Given the description of an element on the screen output the (x, y) to click on. 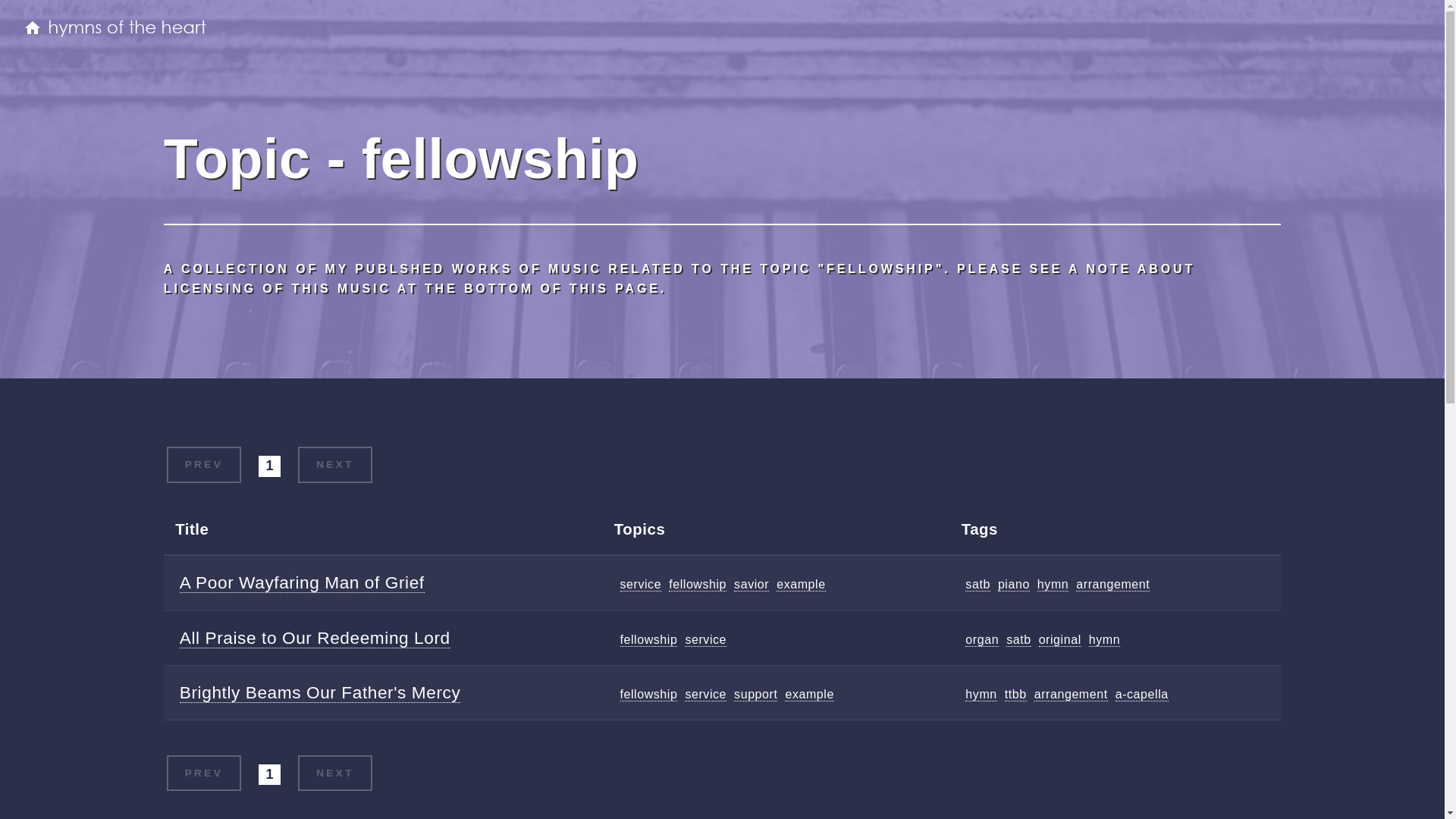
hymn (980, 694)
example (808, 694)
A Poor Wayfaring Man of Grief (302, 582)
NEXT (334, 464)
example (800, 584)
arrangement (1070, 694)
Brightly Beams Our Father's Mercy (320, 692)
NEXT (334, 773)
1 (270, 774)
piano (1013, 584)
